Given the description of an element on the screen output the (x, y) to click on. 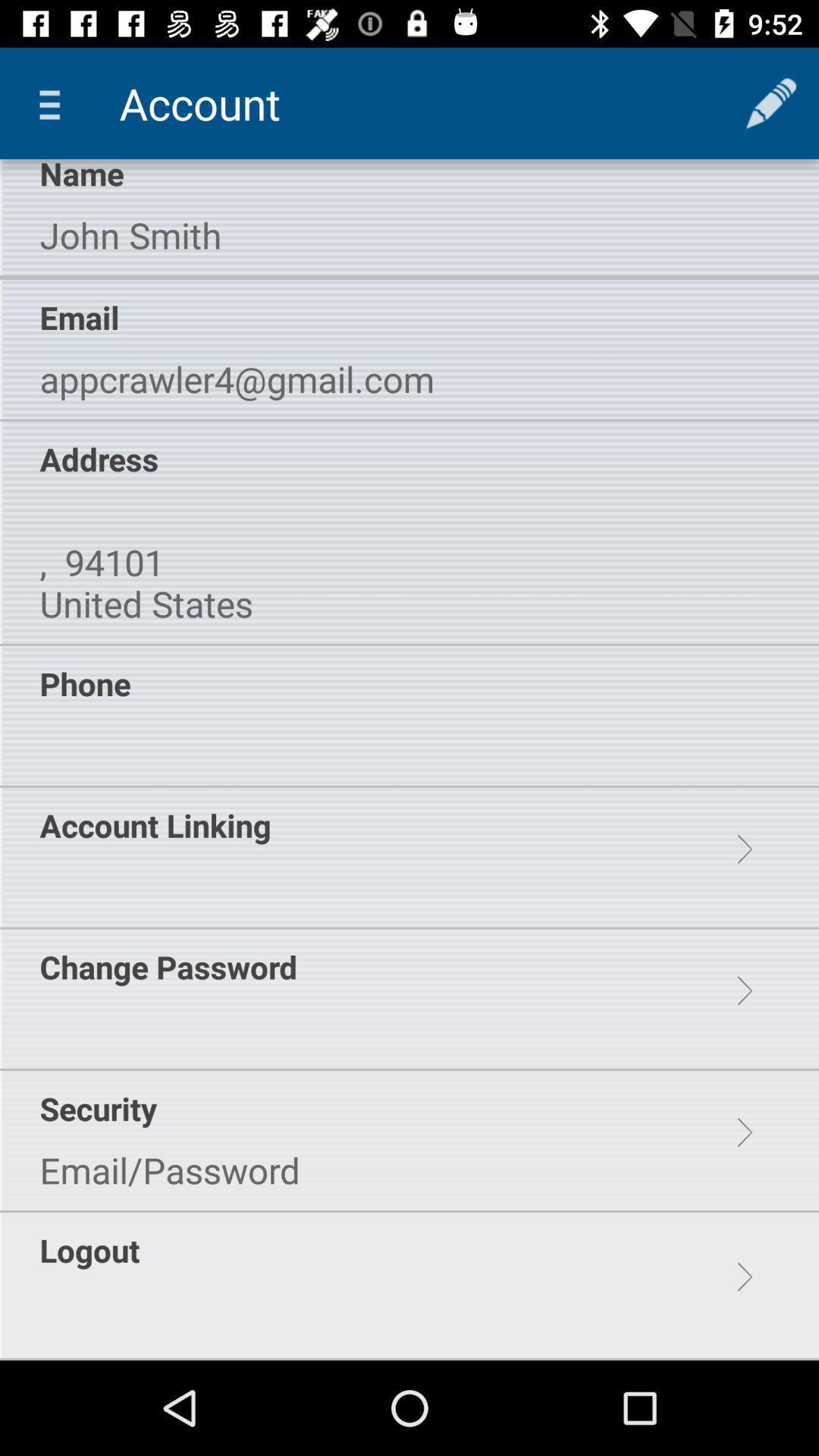
turn on item below security item (169, 1170)
